Given the description of an element on the screen output the (x, y) to click on. 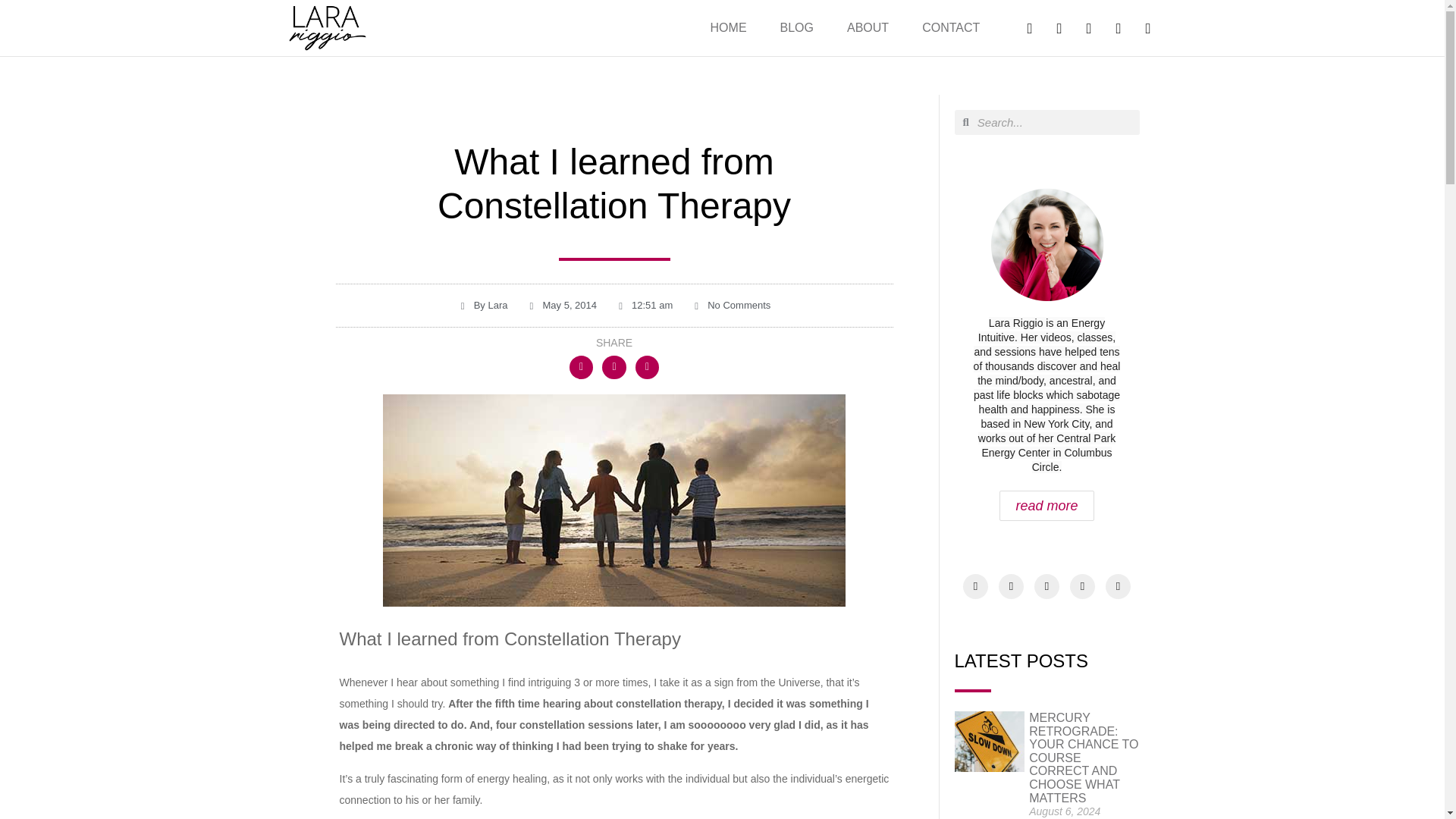
ABOUT (867, 27)
May 5, 2014 (560, 305)
CONTACT (950, 27)
By Lara (483, 305)
BLOG (796, 27)
No Comments (730, 305)
HOME (728, 27)
read more (1045, 505)
Untitled (613, 499)
